Given the description of an element on the screen output the (x, y) to click on. 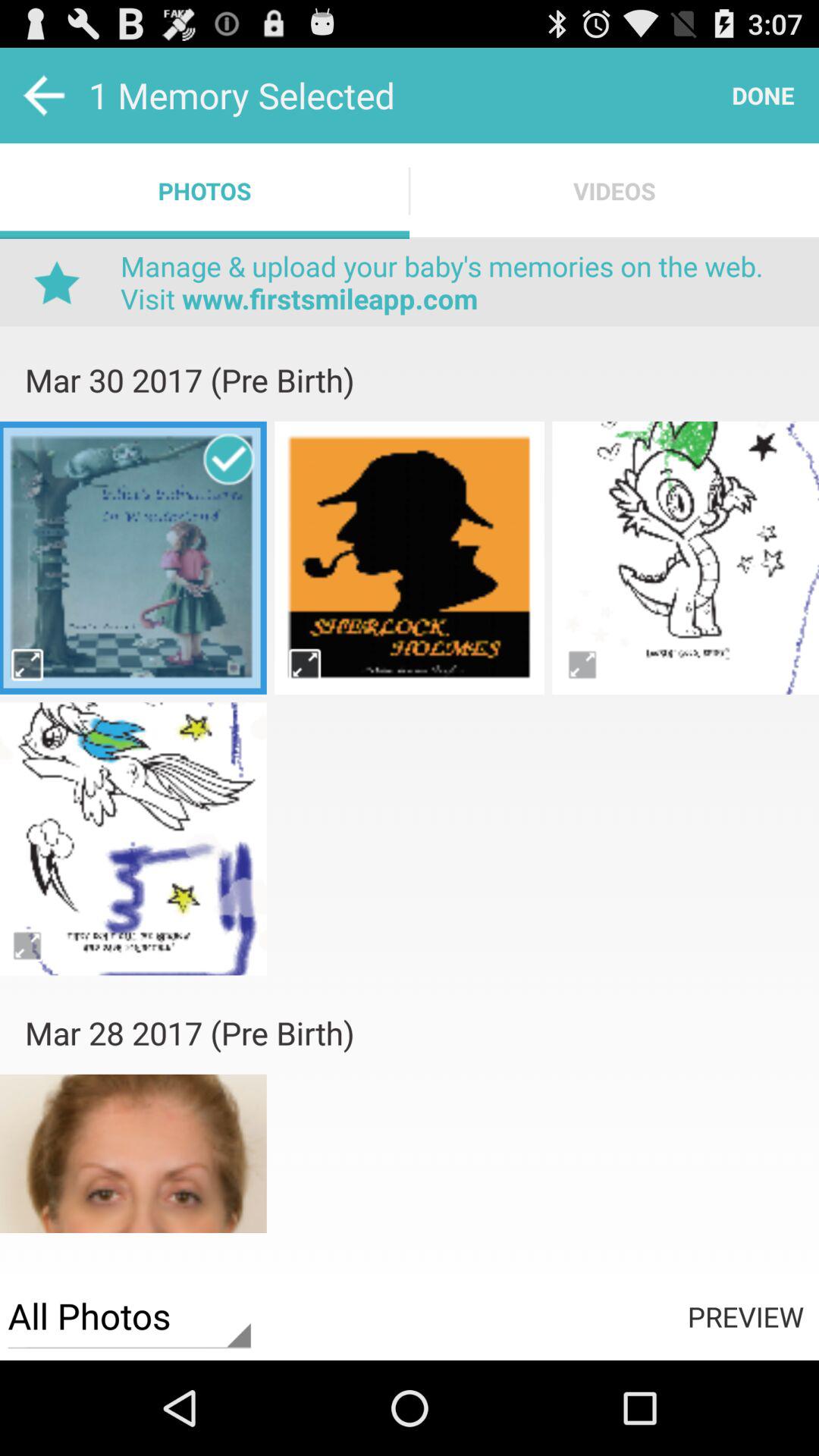
game page (685, 557)
